Given the description of an element on the screen output the (x, y) to click on. 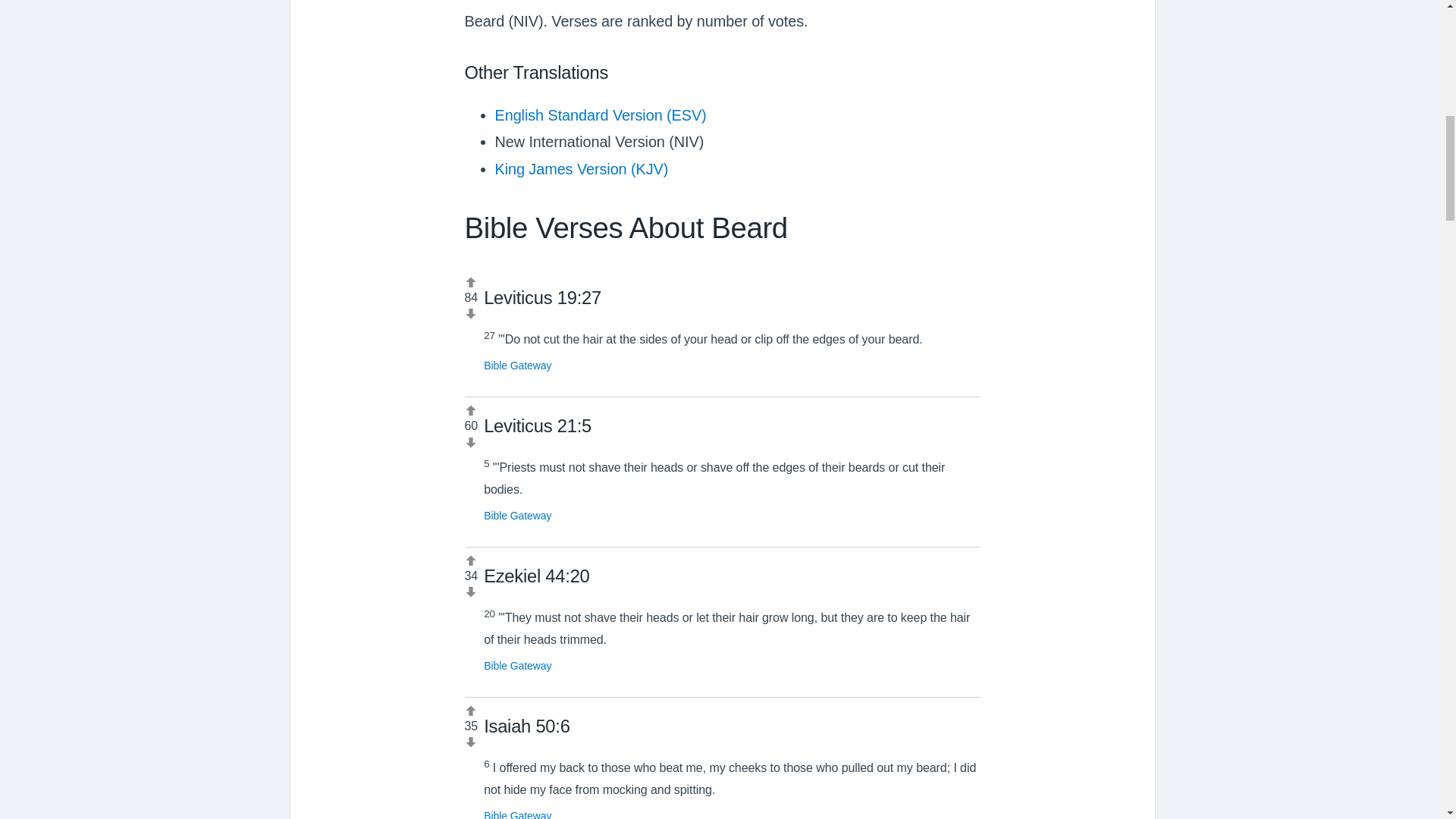
Bible Gateway (517, 515)
Bible Gateway (517, 665)
Bible Gateway (517, 365)
Bible Gateway (517, 814)
